Given the description of an element on the screen output the (x, y) to click on. 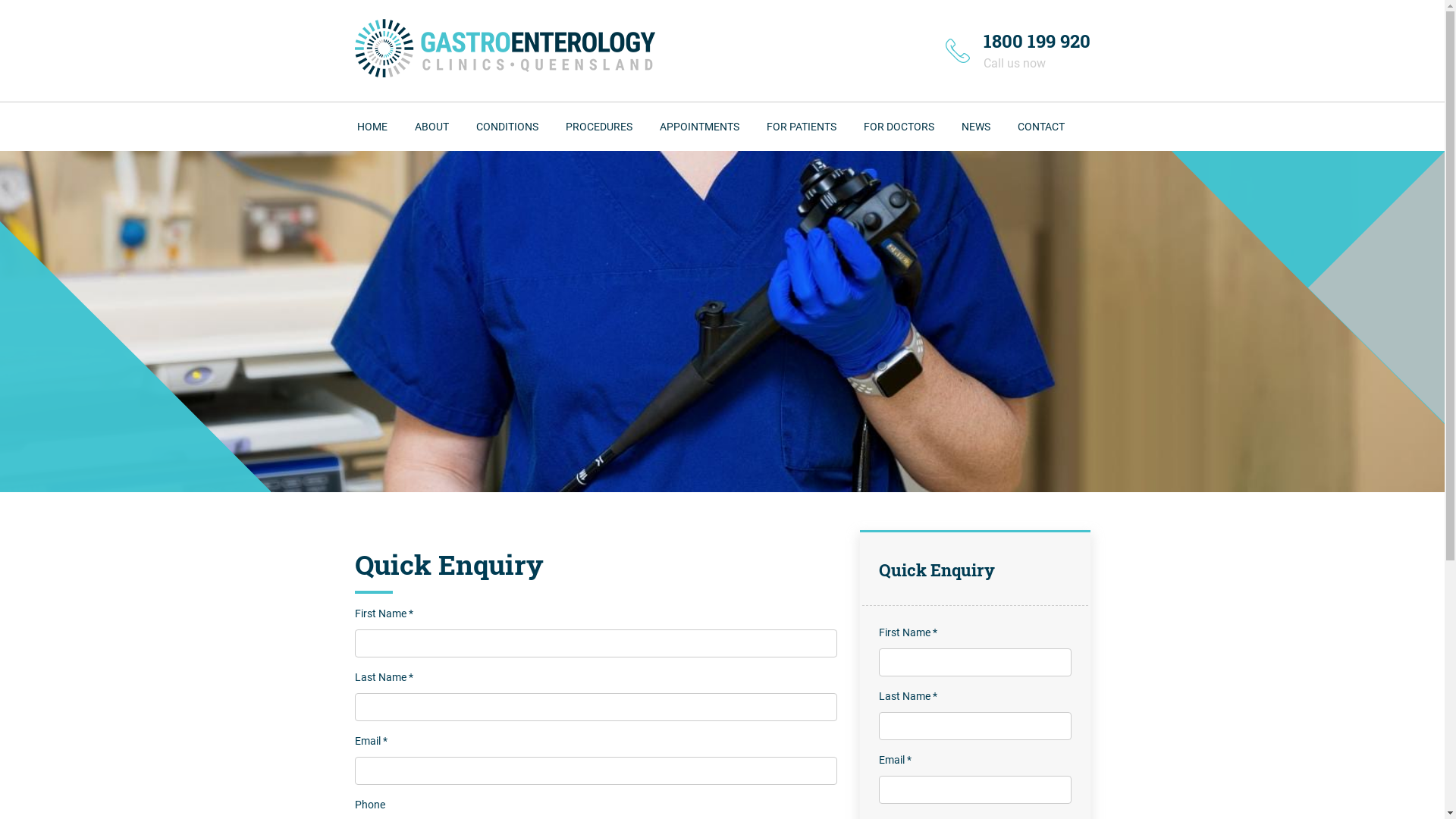
FOR PATIENTS Element type: text (800, 126)
Gastroparesis Element type: text (557, 392)
24-hour pH monitoring Element type: text (646, 280)
APPOINTMENTS Element type: text (699, 126)
PROCEDURES Element type: text (599, 126)
Postoperative information Element type: text (846, 243)
Locations Element type: text (983, 206)
FOR DOCTORS Element type: text (898, 126)
ABOUT Element type: text (430, 126)
Medical Objects Element type: text (943, 206)
Gastroesophageal Reflux Disease Element type: text (557, 354)
Our Team Element type: text (494, 206)
NEWS Element type: text (975, 126)
Your Visit Element type: text (740, 169)
Coeliac Disease Element type: text (557, 206)
Barrett's Oesophagus Element type: text (557, 169)
Gastroenterology Clinics Queensland Homepage Element type: hover (504, 47)
Preoperative information Element type: text (846, 206)
Appointment Request Element type: text (740, 243)
Frequently Asked Questions Element type: text (740, 280)
Upper Gastrointestinal Endoscopy (Gastroscopy) Element type: text (646, 206)
Colonoscopy Element type: text (646, 243)
Our Practice Element type: text (494, 169)
1800 199 920 Element type: text (1035, 40)
Irritable Bowel Syndrome Element type: text (557, 466)
Fees and Payment Element type: text (740, 206)
Direct Access Endoscopy Element type: text (646, 169)
High Resolution Oesophageal Manometry Element type: text (646, 317)
Constipation Element type: text (557, 243)
Skip to main content Element type: text (60, 0)
Dysphagia (swallowing difficulty) Element type: text (557, 280)
HOME Element type: text (371, 126)
Eosinophilic Oesophagitis Element type: text (557, 317)
Contact us Element type: text (983, 169)
Inflammatory Bowel Disease Element type: text (557, 429)
CONDITIONS Element type: text (507, 126)
Patient Referral Element type: text (943, 169)
CONTACT Element type: text (1041, 126)
Resources Element type: text (846, 169)
Patient Portal Element type: text (740, 317)
